Given the description of an element on the screen output the (x, y) to click on. 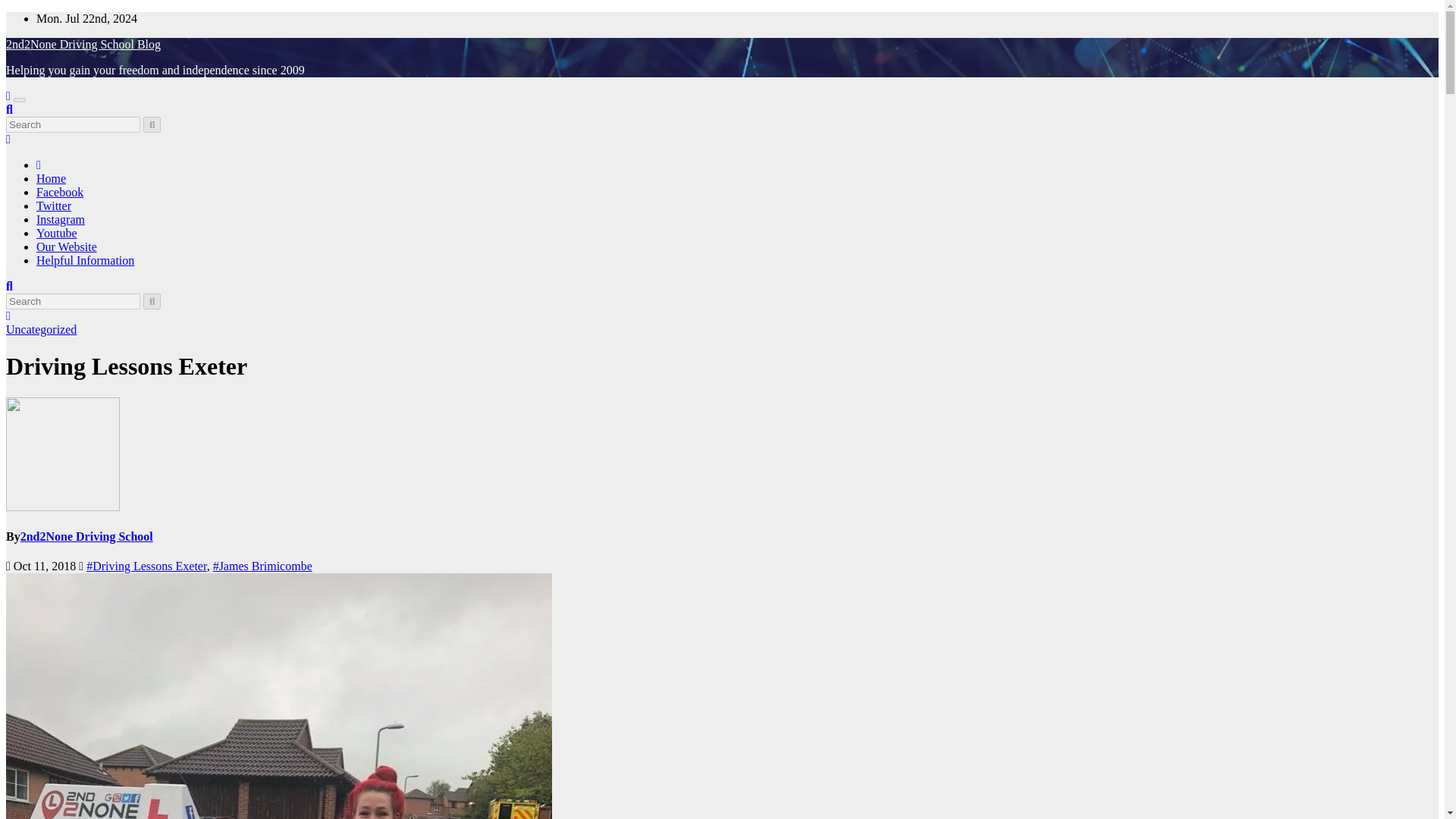
Helpful Information (84, 259)
Youtube (56, 232)
2nd2None Driving School Blog (82, 43)
Twitter (53, 205)
Home (50, 178)
2nd2None Driving School (86, 535)
Driving Lessons Exeter (126, 366)
Helpful Information (84, 259)
Our Website (66, 246)
Facebook (59, 192)
Permalink to: Driving Lessons Exeter (126, 366)
Our Website (66, 246)
Instagram (60, 219)
Youtube (56, 232)
